Given the description of an element on the screen output the (x, y) to click on. 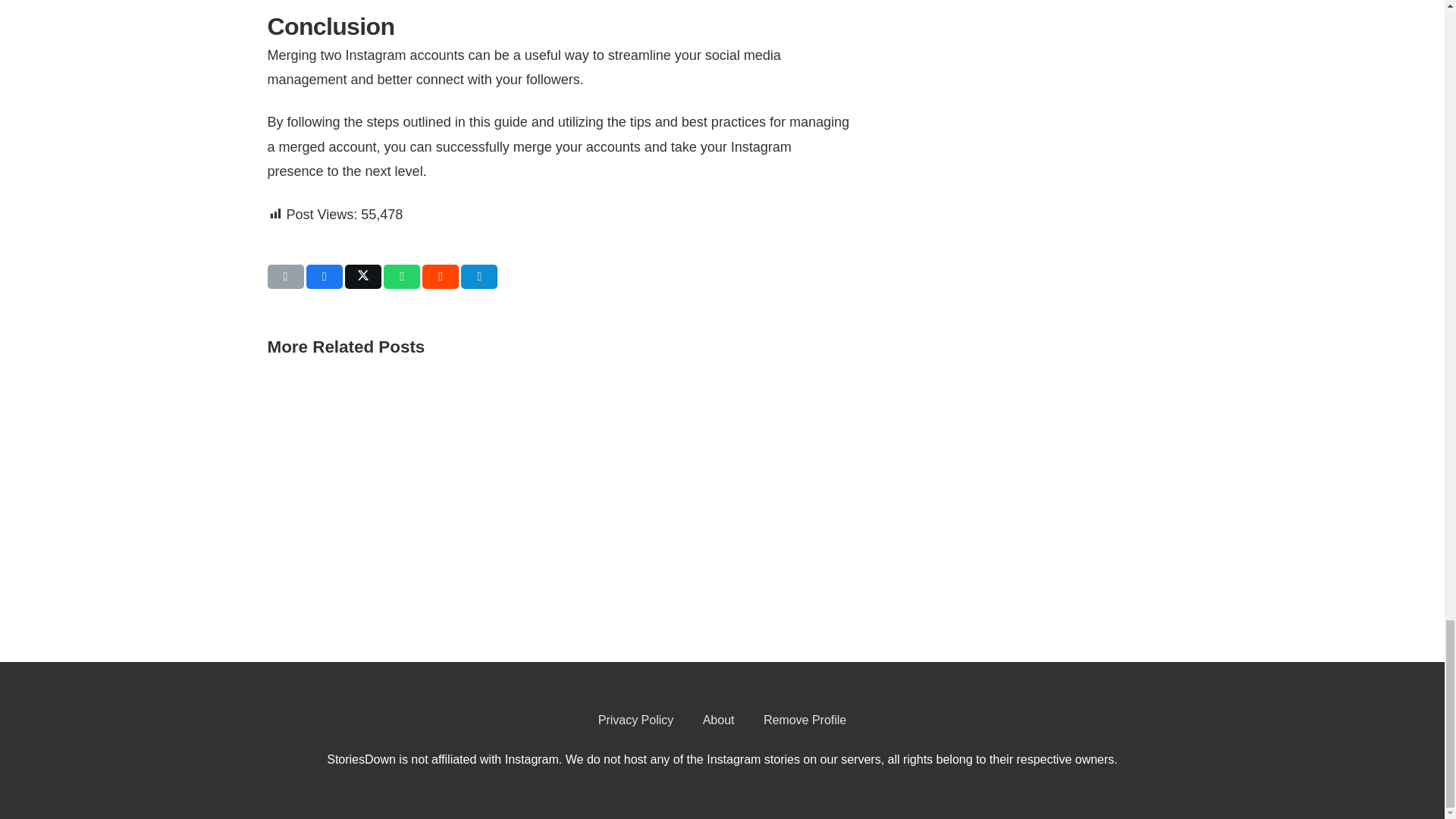
Email this (284, 276)
Share this (440, 276)
Tweet this (363, 276)
Share this (479, 276)
Share this (323, 276)
Share this (402, 276)
